Given the description of an element on the screen output the (x, y) to click on. 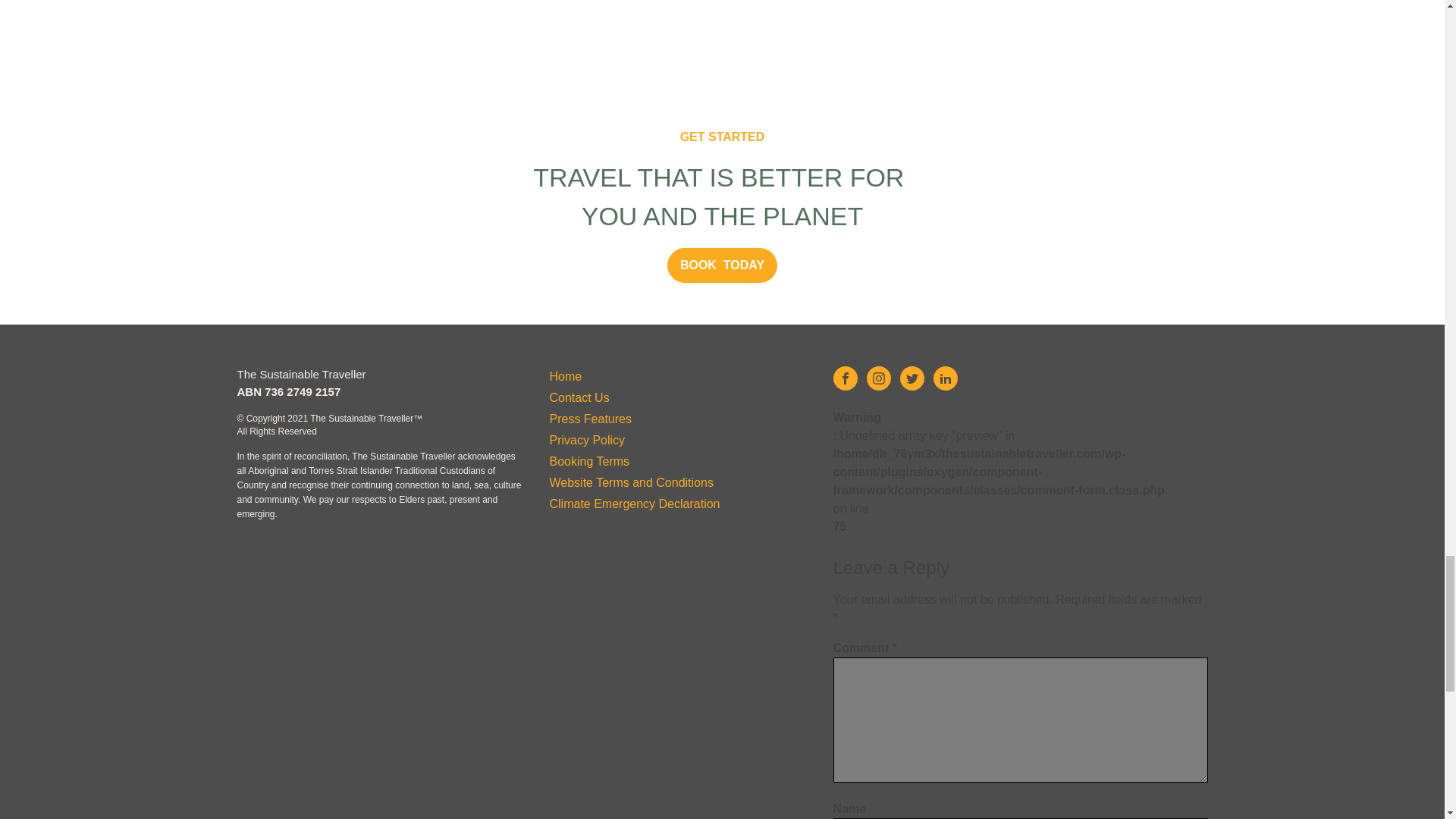
Website Terms and Conditions (633, 482)
Home (633, 376)
Press Features (633, 418)
Privacy Policy (633, 440)
Contact Us (633, 397)
Booking Terms (633, 461)
BOOK  TODAY (721, 265)
Climate Emergency Declaration (633, 504)
